Given the description of an element on the screen output the (x, y) to click on. 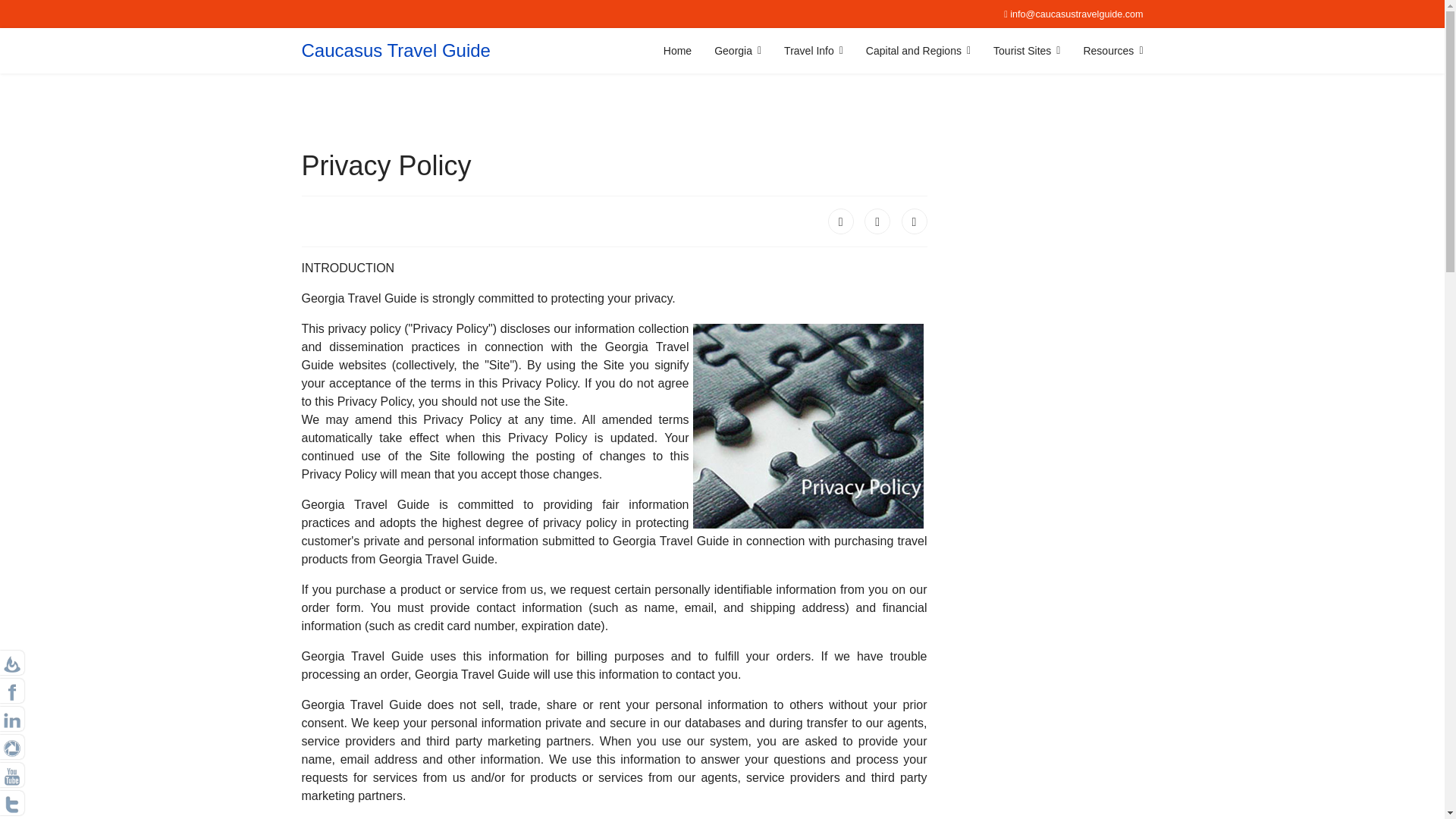
LinkedIn (913, 221)
Twitter (876, 221)
Caucasus Travel Guide (395, 50)
Facebook (840, 221)
Georgia (738, 50)
Home (677, 50)
